Given the description of an element on the screen output the (x, y) to click on. 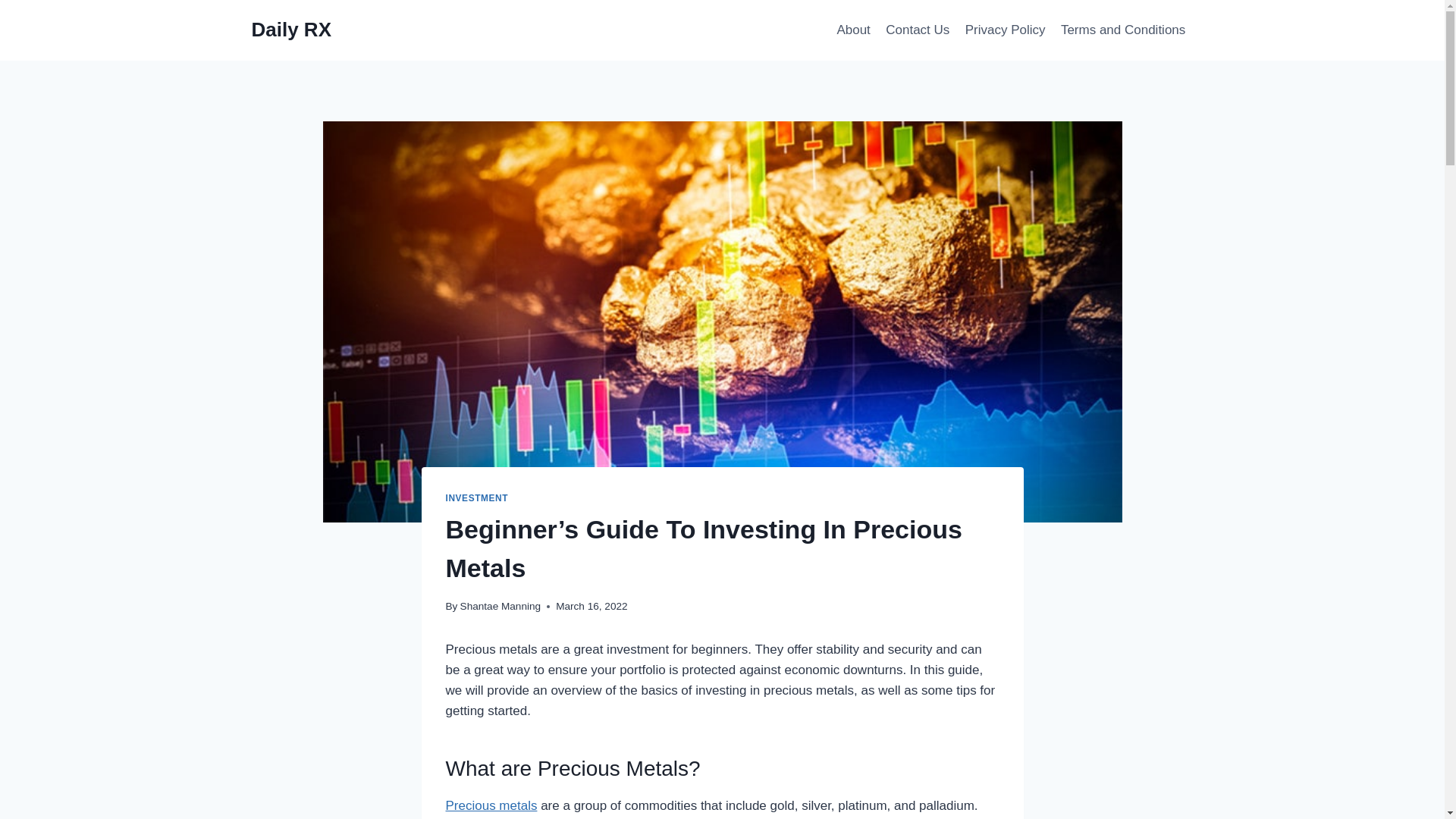
Daily RX (291, 29)
Terms and Conditions (1122, 30)
Privacy Policy (1005, 30)
Terms and Conditions (1122, 30)
Contact Us (916, 30)
Shantae Manning (500, 605)
About (852, 30)
Investment (476, 498)
Contact Us (916, 30)
Precious metals (491, 805)
Privacy Policy (1005, 30)
Daily RX (291, 29)
INVESTMENT (476, 498)
Shantae Manning (500, 605)
About (852, 30)
